Given the description of an element on the screen output the (x, y) to click on. 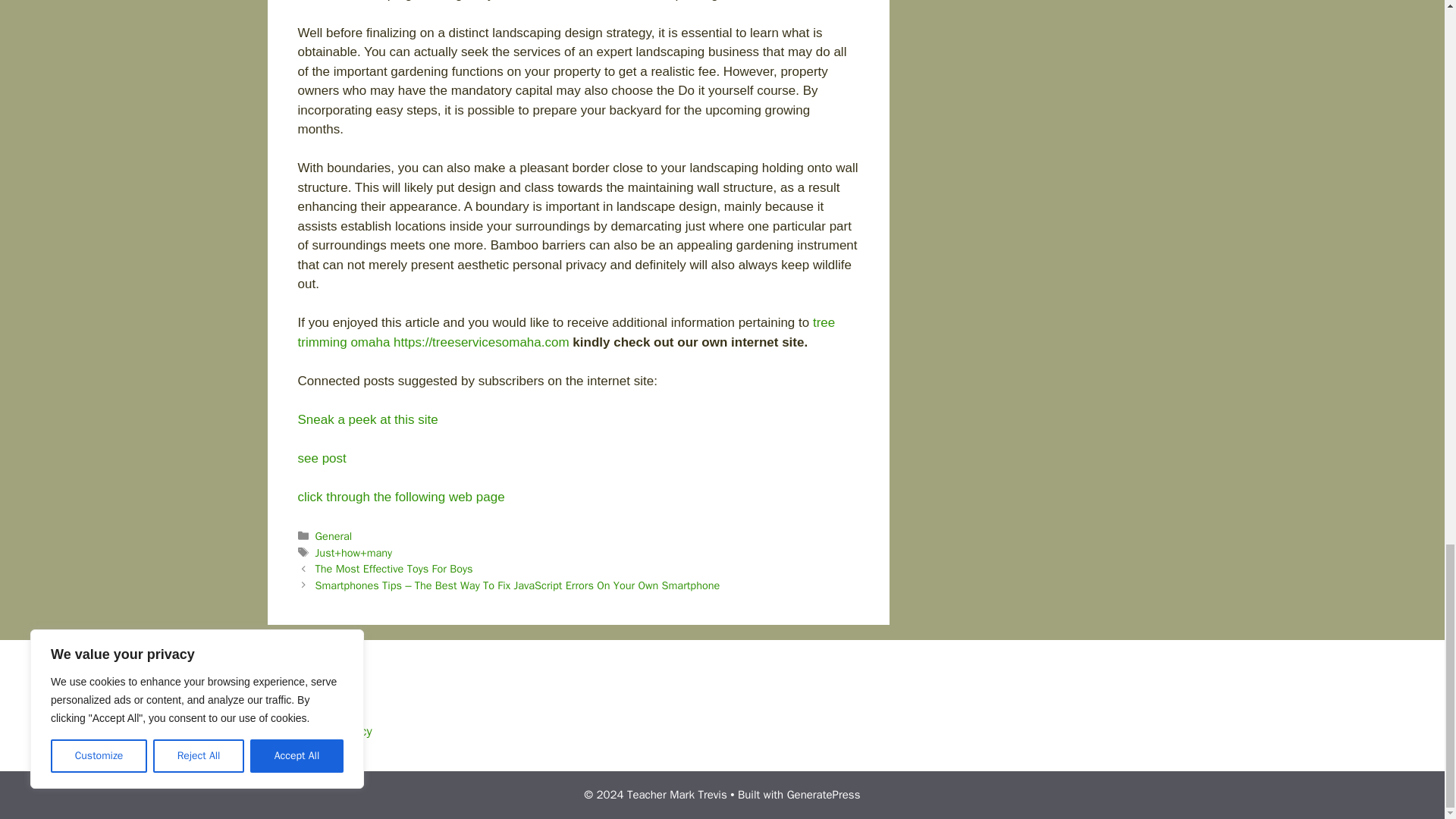
click through the following web page (400, 496)
The Most Effective Toys For Boys (394, 568)
see post (321, 458)
General (333, 535)
Sneak a peek at this site (367, 419)
